Given the description of an element on the screen output the (x, y) to click on. 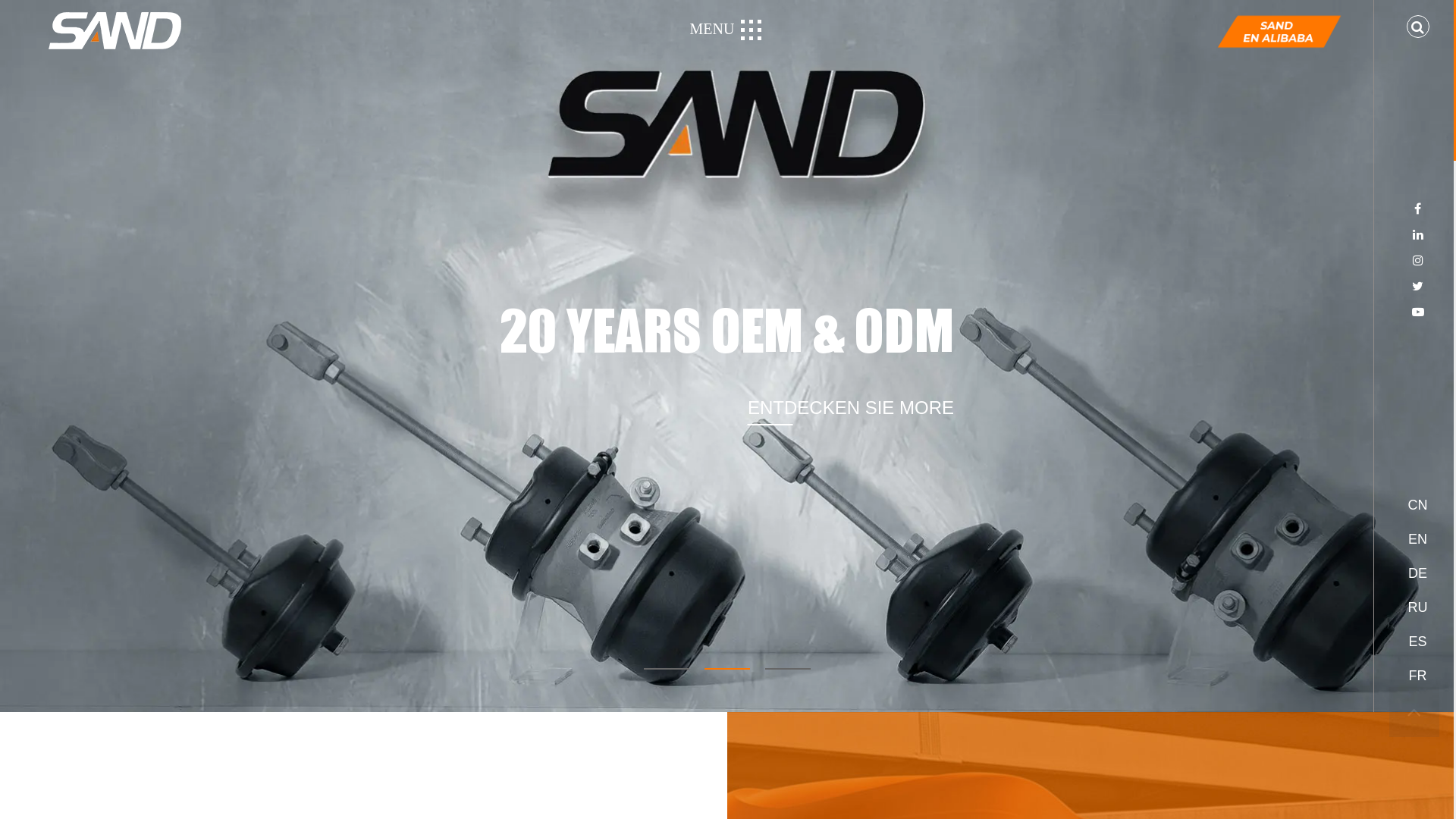
CN Element type: text (1417, 505)
DE Element type: text (1417, 573)
EN Element type: text (1417, 539)
ENTDECKEN SIE MORE Element type: text (1138, 405)
ES Element type: text (1417, 641)
FR Element type: text (1417, 675)
RU Element type: text (1417, 607)
